Given the description of an element on the screen output the (x, y) to click on. 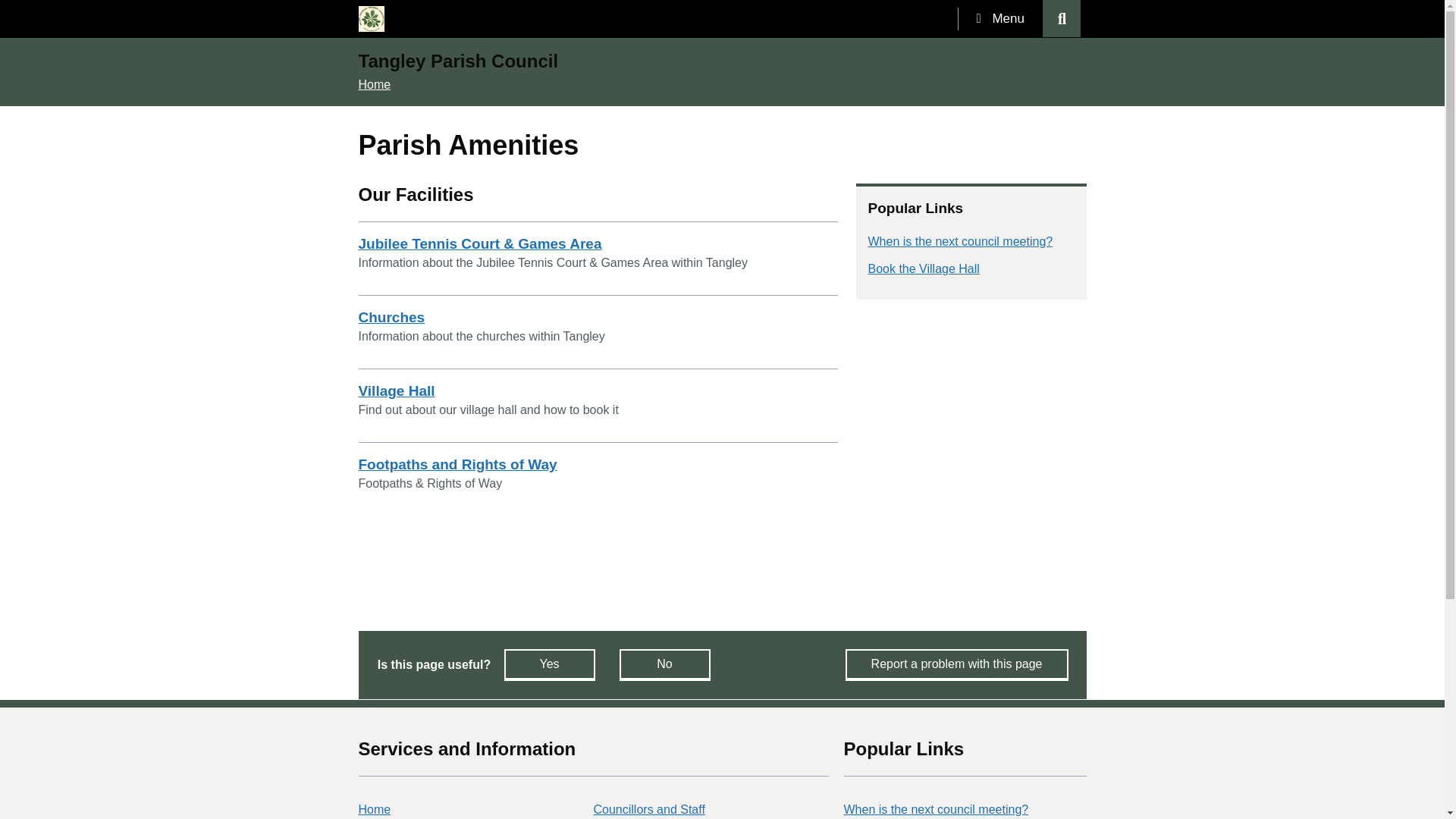
Tangley Parish Council (457, 62)
When is the next council meeting? (959, 241)
Home (374, 83)
Book the Village Hall (922, 268)
Churches (391, 317)
Menu (1000, 18)
Home (374, 809)
Village Hall (395, 390)
Yes (548, 664)
Councillors and Staff (648, 809)
